Given the description of an element on the screen output the (x, y) to click on. 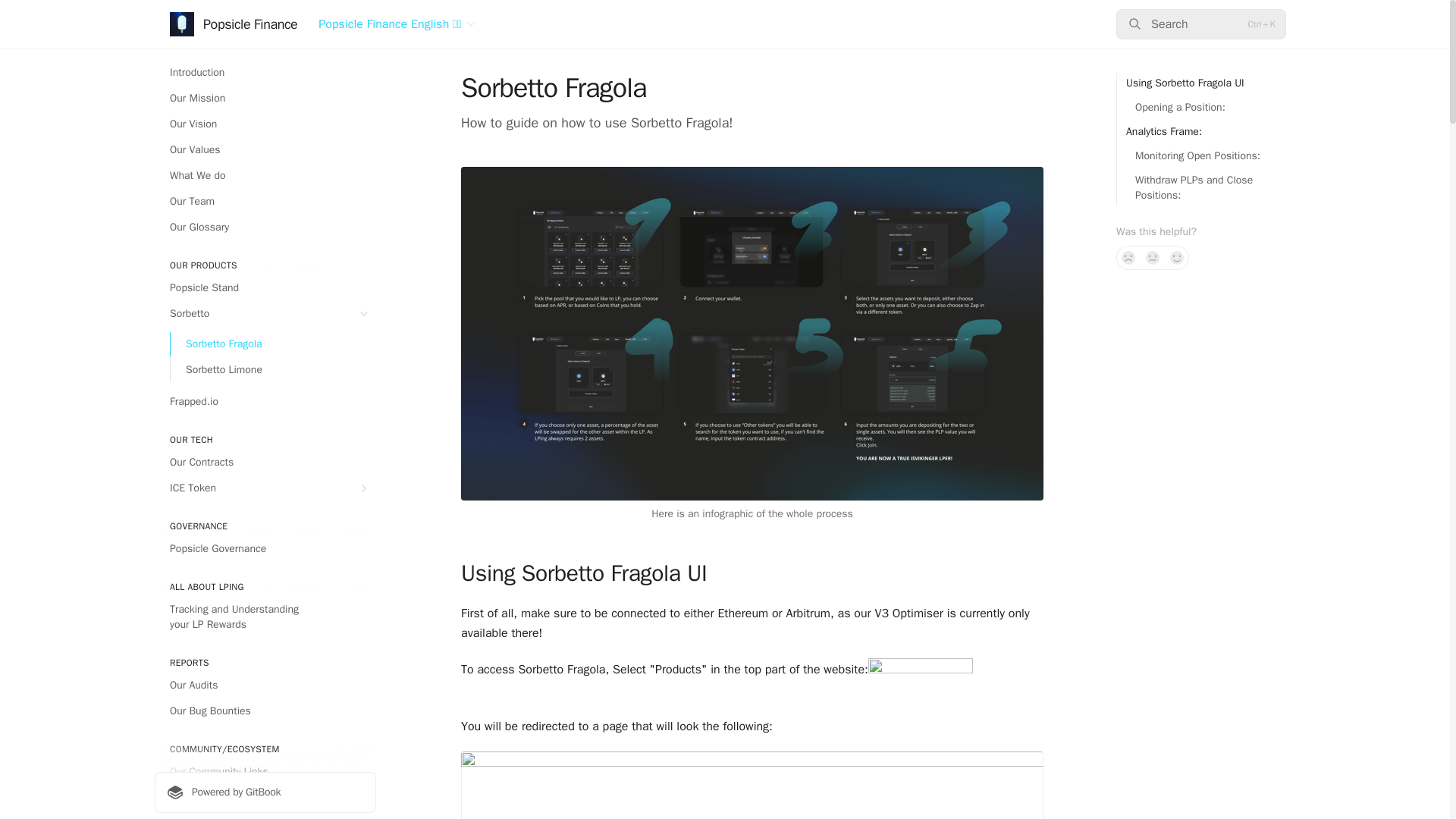
What We do (264, 175)
ICE Token (264, 487)
Our Mission (264, 98)
Powered by GitBook (264, 792)
Our Team (264, 201)
Tracking and Understanding your LP Rewards (264, 617)
Our Community Links (264, 771)
Not sure (1152, 257)
No (1128, 257)
Our Audits (264, 685)
